Given the description of an element on the screen output the (x, y) to click on. 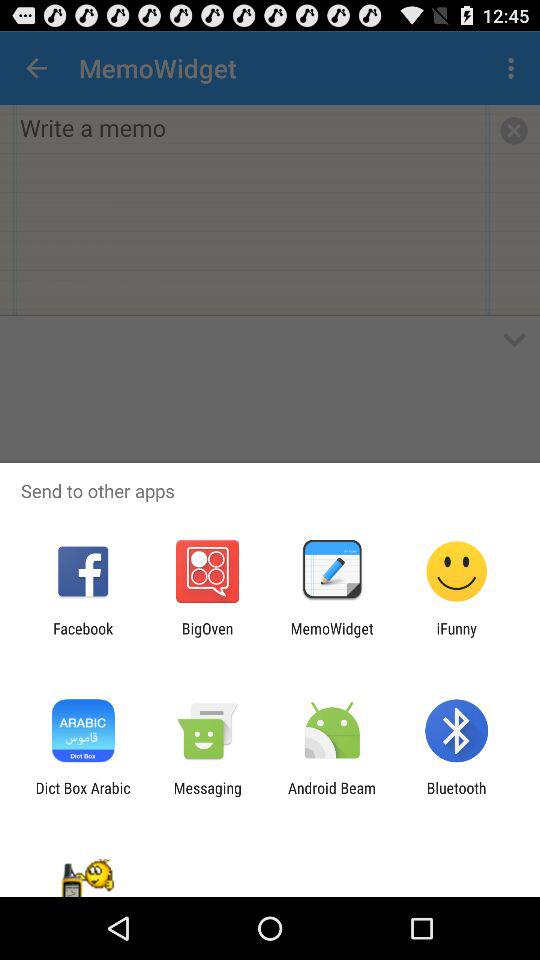
choose android beam app (332, 796)
